Given the description of an element on the screen output the (x, y) to click on. 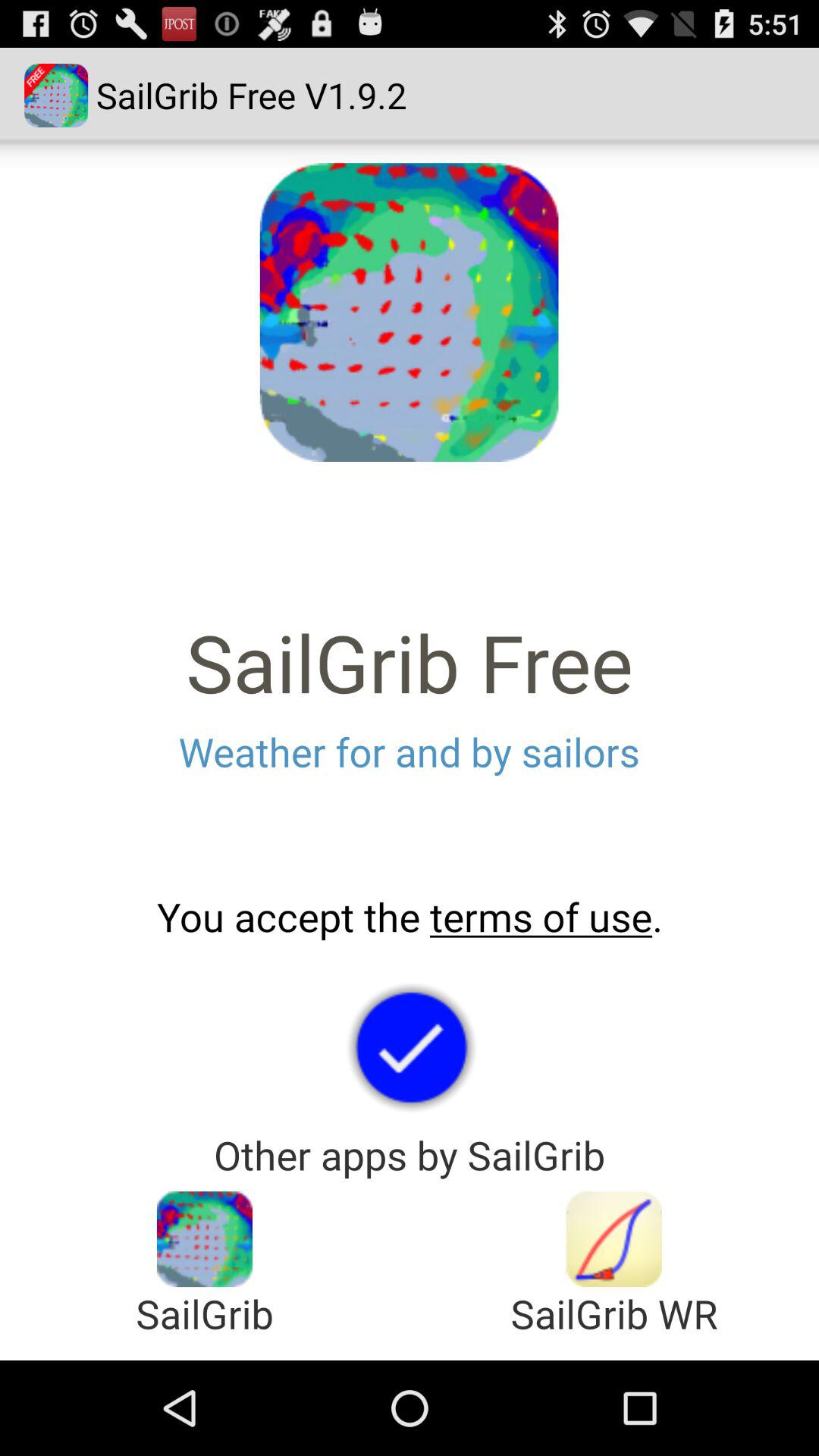
flip until you accept the (409, 916)
